Given the description of an element on the screen output the (x, y) to click on. 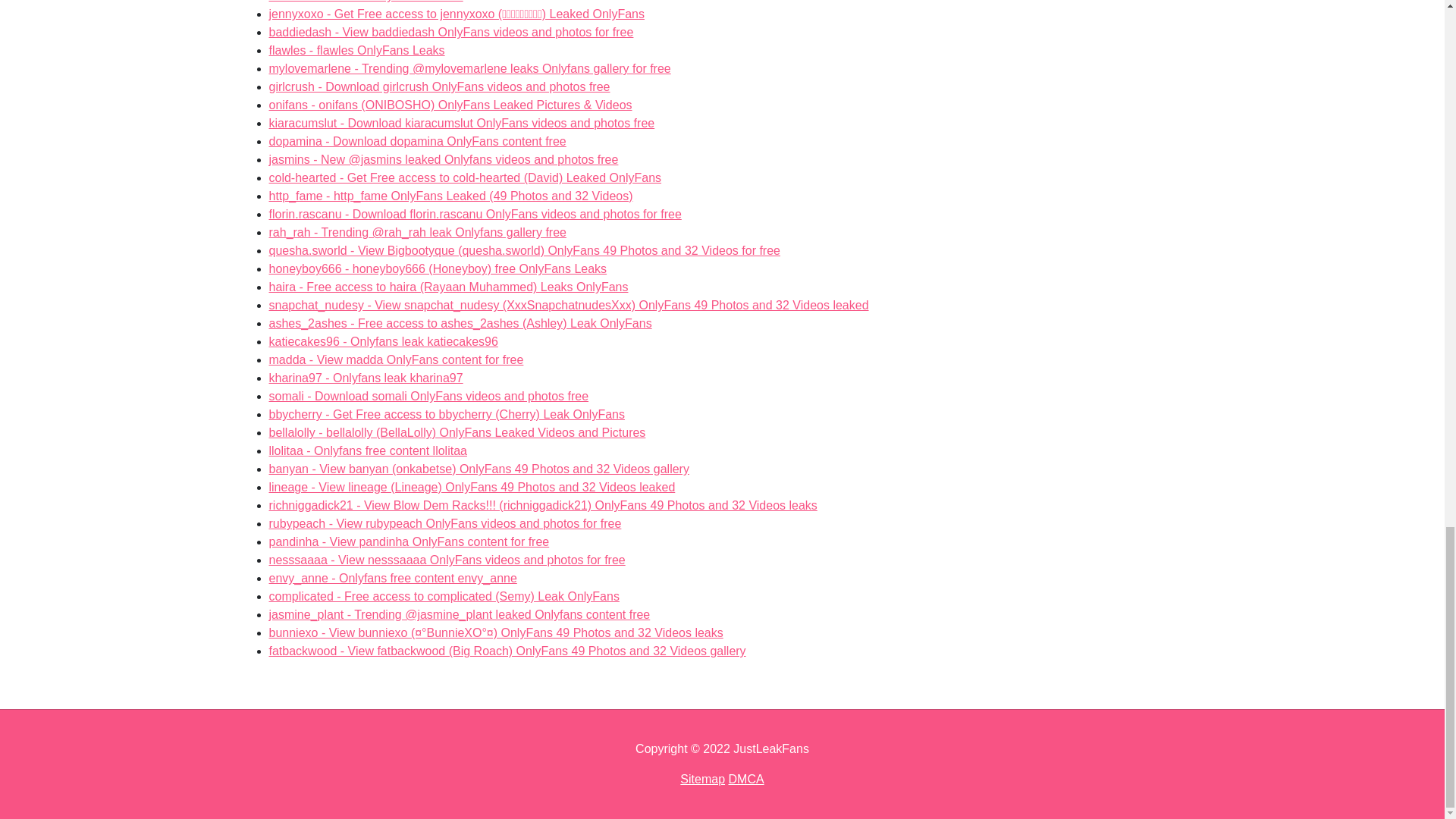
katiecakes96 - Onlyfans leak katiecakes96 (450, 31)
aleesha - aleesha OnlyFans Leaked (382, 341)
flawles - flawles OnlyFans Leaks (355, 50)
dopamina - Download dopamina OnlyFans content free (438, 86)
